Given the description of an element on the screen output the (x, y) to click on. 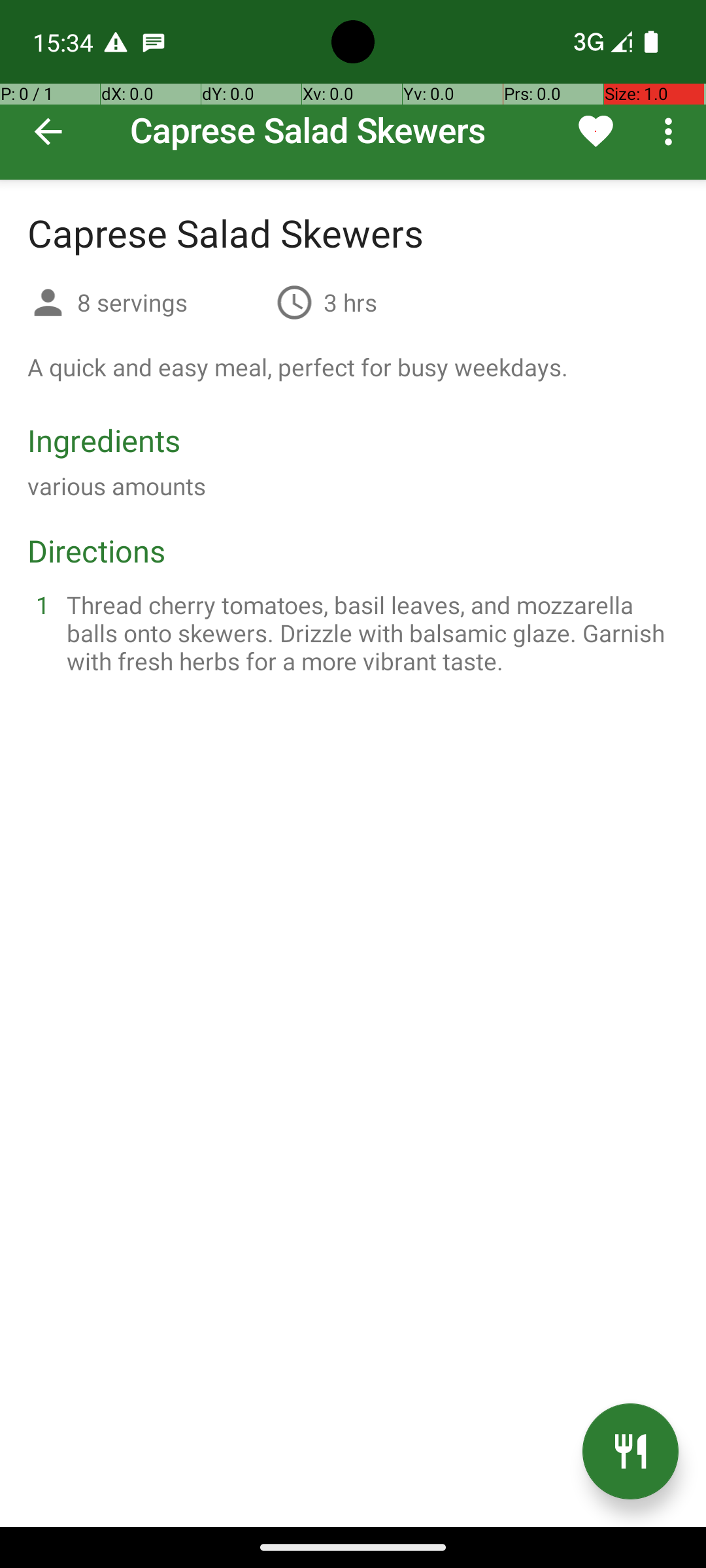
Caprese Salad Skewers Element type: android.widget.FrameLayout (353, 89)
Remove from favorites Element type: android.widget.Button (595, 131)
8 servings Element type: android.widget.TextView (170, 301)
3 hrs Element type: android.widget.TextView (350, 301)
various amounts Element type: android.widget.TextView (116, 485)
Thread cherry tomatoes, basil leaves, and mozzarella balls onto skewers. Drizzle with balsamic glaze. Garnish with fresh herbs for a more vibrant taste. Element type: android.widget.TextView (368, 632)
